Given the description of an element on the screen output the (x, y) to click on. 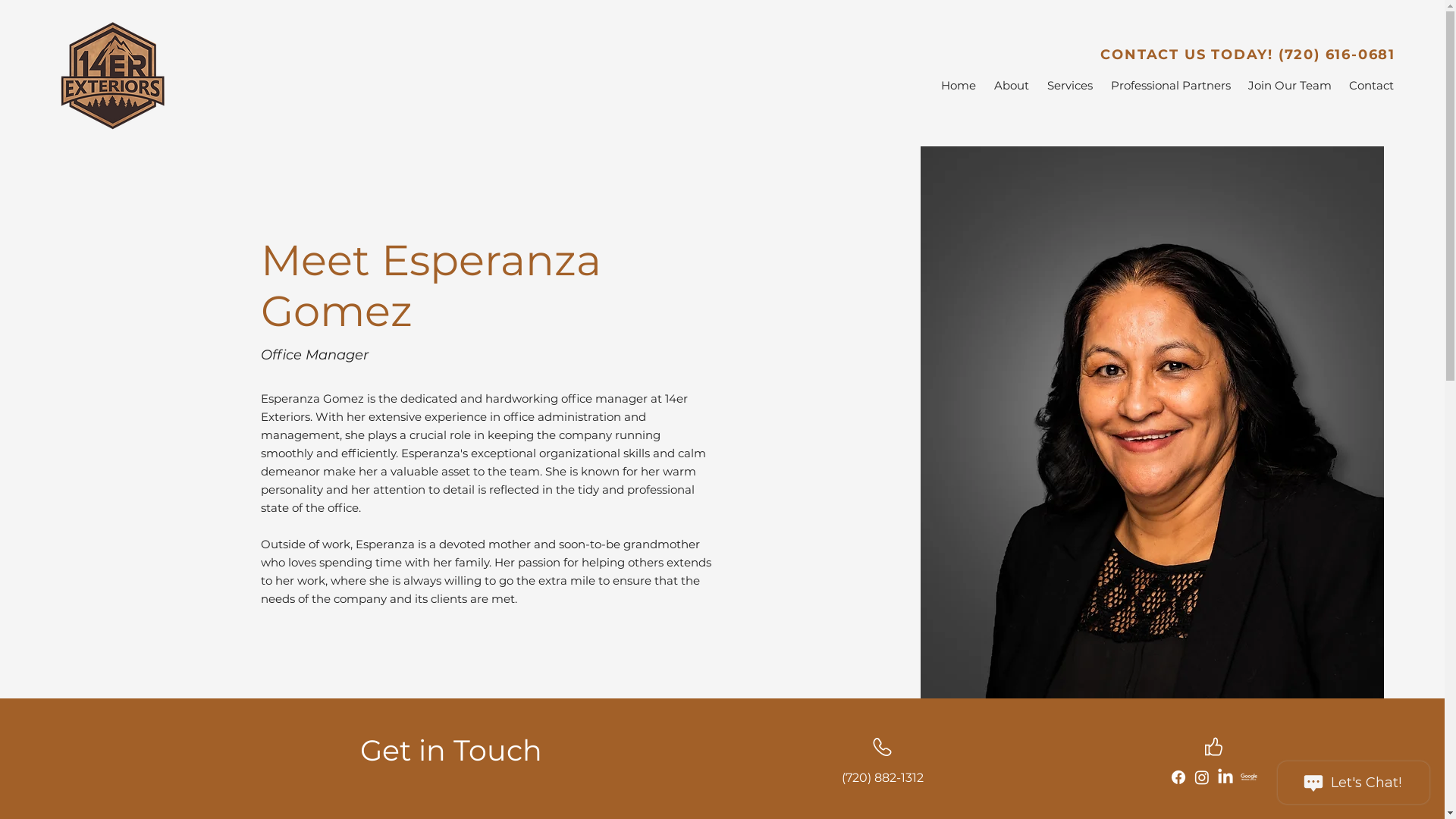
Professional Partners Element type: text (1169, 85)
Contact Element type: text (1370, 85)
Join Our Team Element type: text (1288, 85)
Services Element type: text (1068, 85)
Home Element type: text (956, 85)
About Element type: text (1009, 85)
